Given the description of an element on the screen output the (x, y) to click on. 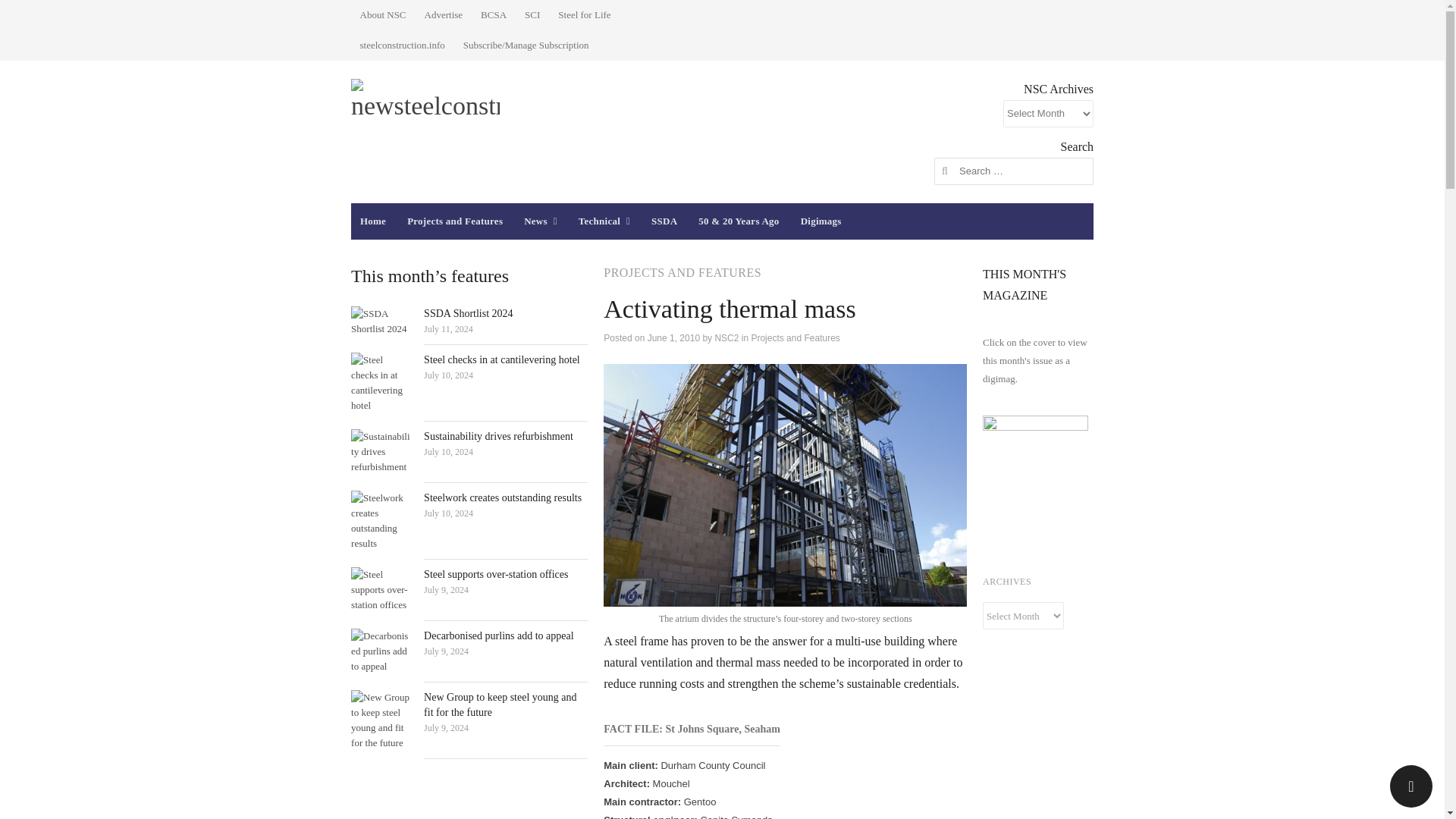
Decarbonised purlins add to appeal (498, 635)
Steelwork creates outstanding results (381, 520)
Sustainability drives refurbishment (498, 436)
Steel checks in at cantilevering hotel (501, 359)
Search (27, 13)
3:20 pm (448, 328)
Sustainability drives refurbishment (498, 436)
News (540, 221)
Steelwork creates outstanding results (501, 497)
Advertise (442, 14)
July 10, 2024 (448, 451)
Digimags (821, 221)
SCI (531, 14)
Sustainability drives refurbishment (381, 452)
Steel for Life (584, 14)
